Given the description of an element on the screen output the (x, y) to click on. 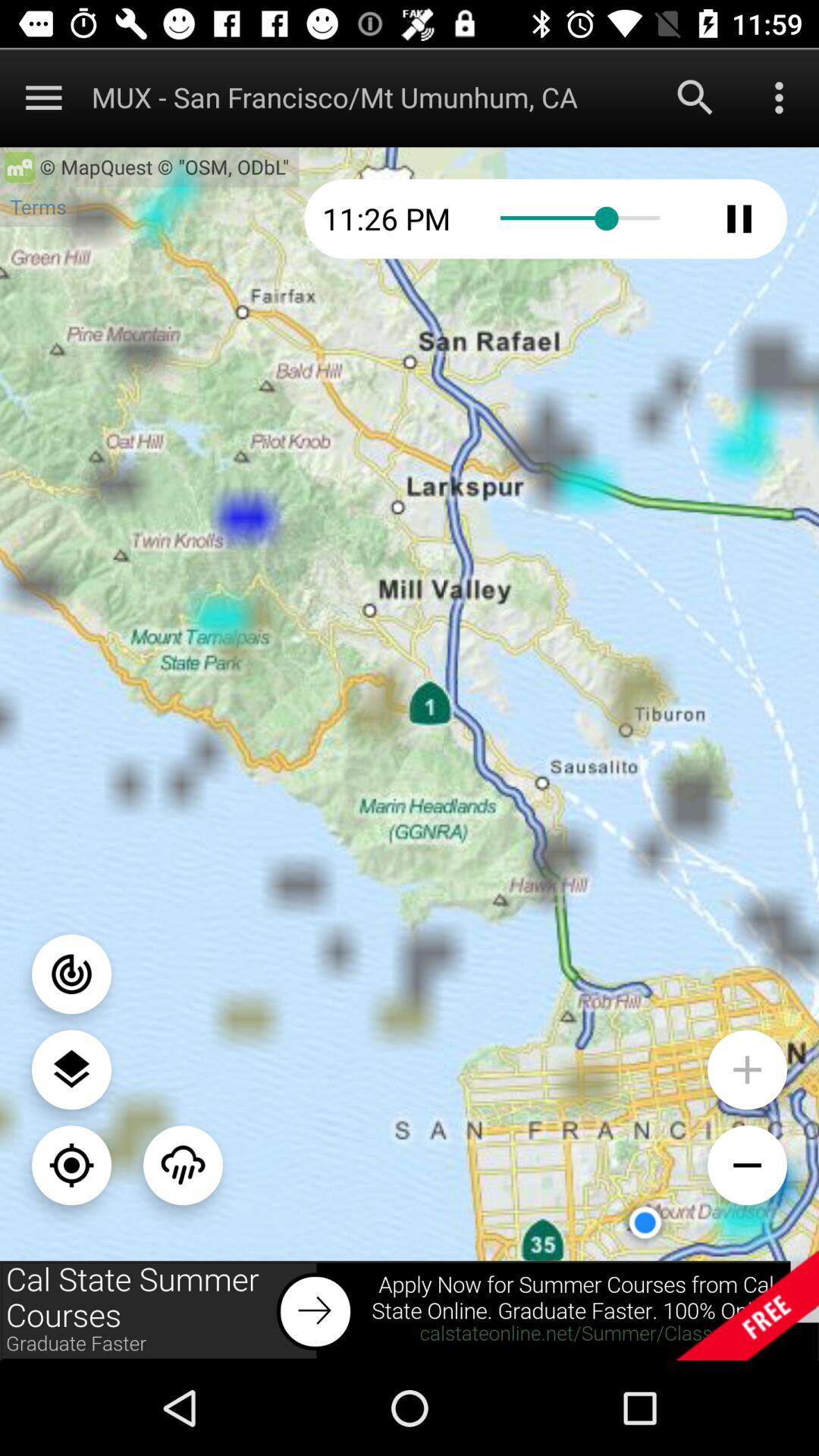
climate of the option (182, 1165)
